Given the description of an element on the screen output the (x, y) to click on. 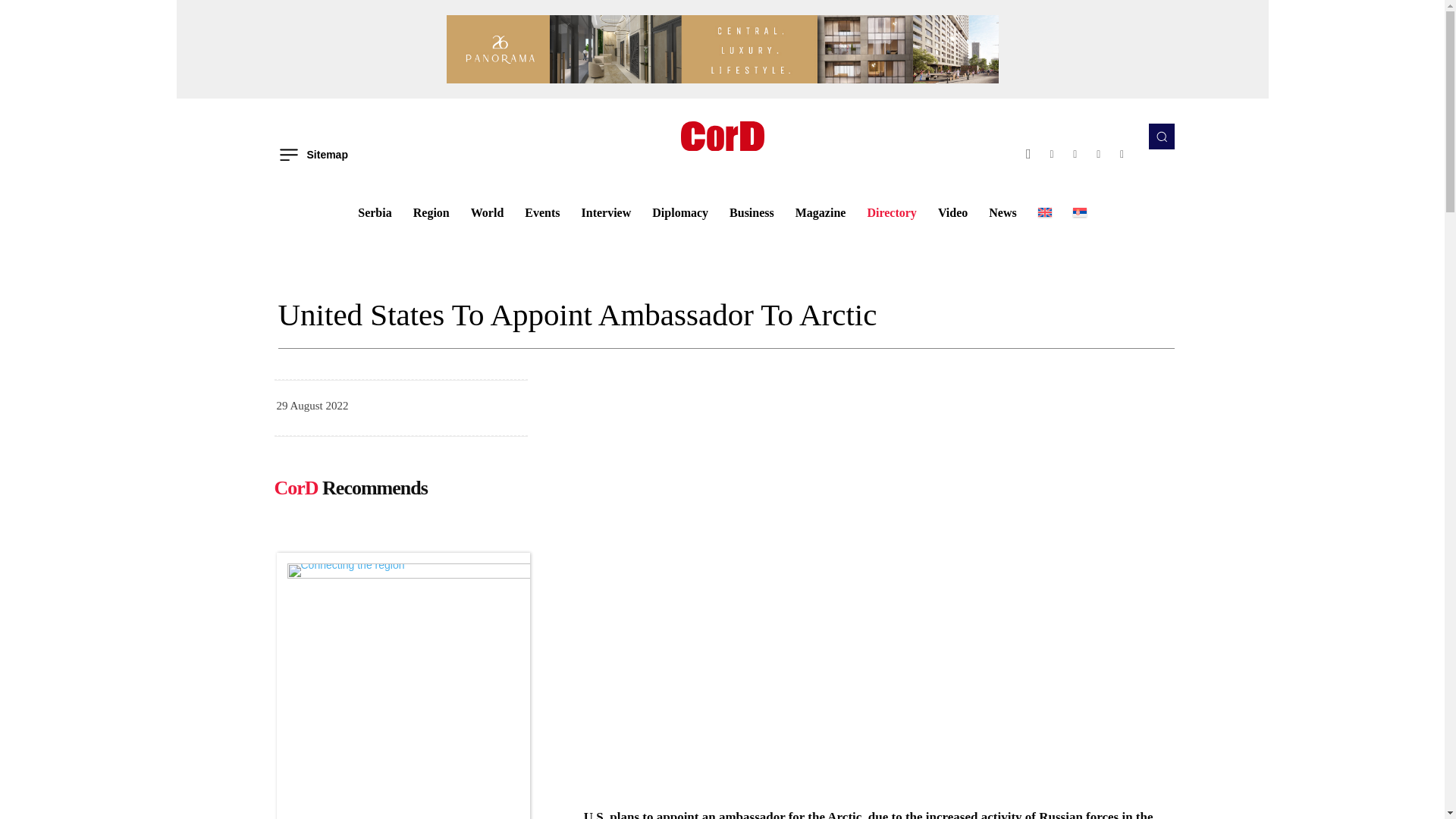
Youtube (1121, 154)
Facebook (1028, 154)
Twitter (1097, 154)
Cord Magazine (722, 135)
Linkedin (1075, 154)
Instagram (1052, 154)
